Given the description of an element on the screen output the (x, y) to click on. 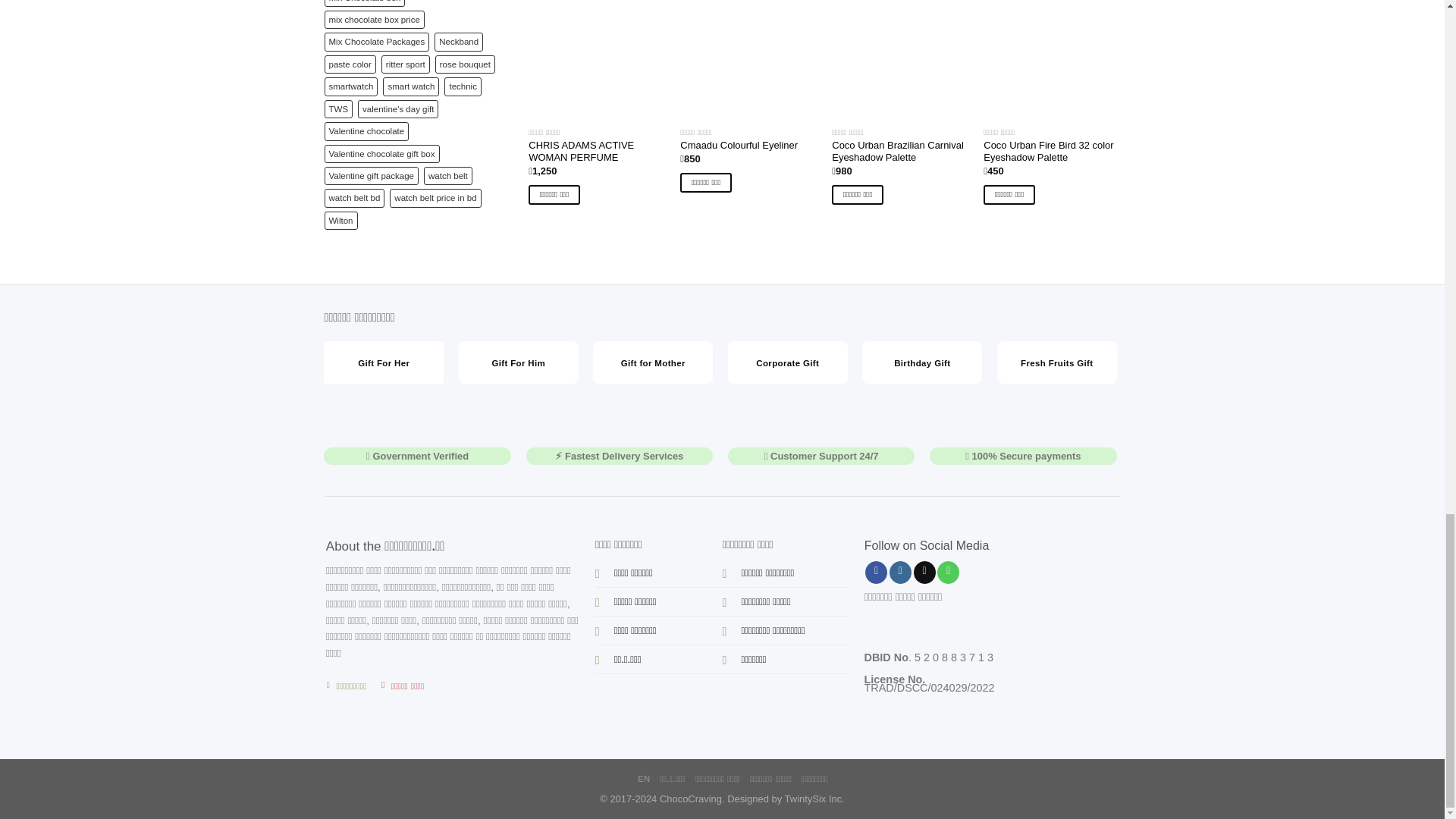
Follow on Instagram (900, 572)
English (626, 777)
Follow on Facebook (875, 572)
Call us (948, 572)
Follow on TikTok (925, 572)
